Given the description of an element on the screen output the (x, y) to click on. 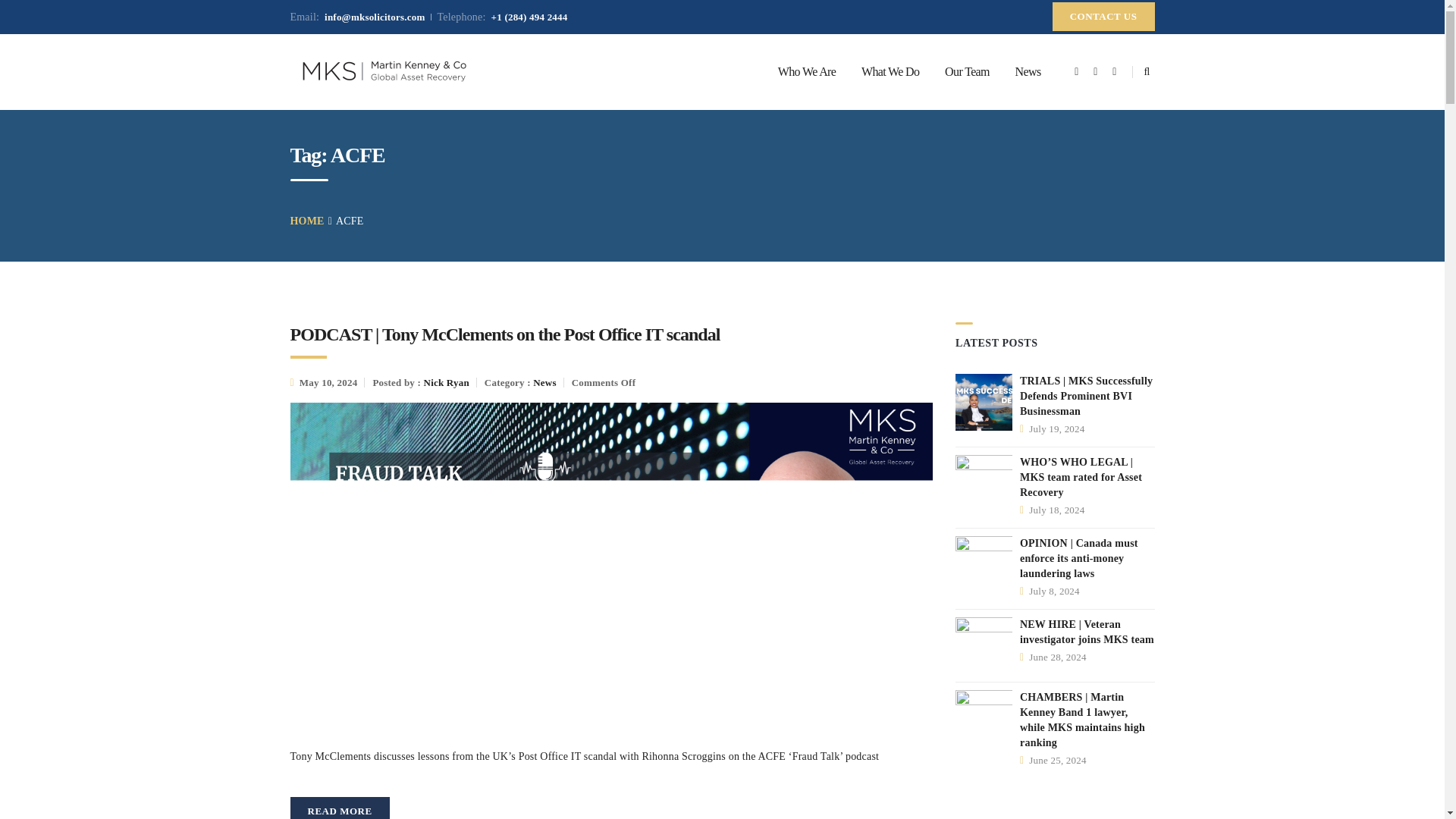
Facebook (1076, 71)
Our Team (967, 71)
HOME (306, 220)
Posts by Nick Ryan (445, 382)
CONTACT US (1103, 16)
MKS (384, 71)
Twitter (1095, 71)
What We Do (890, 71)
Who We Are (807, 71)
READ MORE (338, 807)
LinkedIn (1114, 71)
Nick Ryan (445, 382)
News (1028, 71)
News (544, 382)
